Given the description of an element on the screen output the (x, y) to click on. 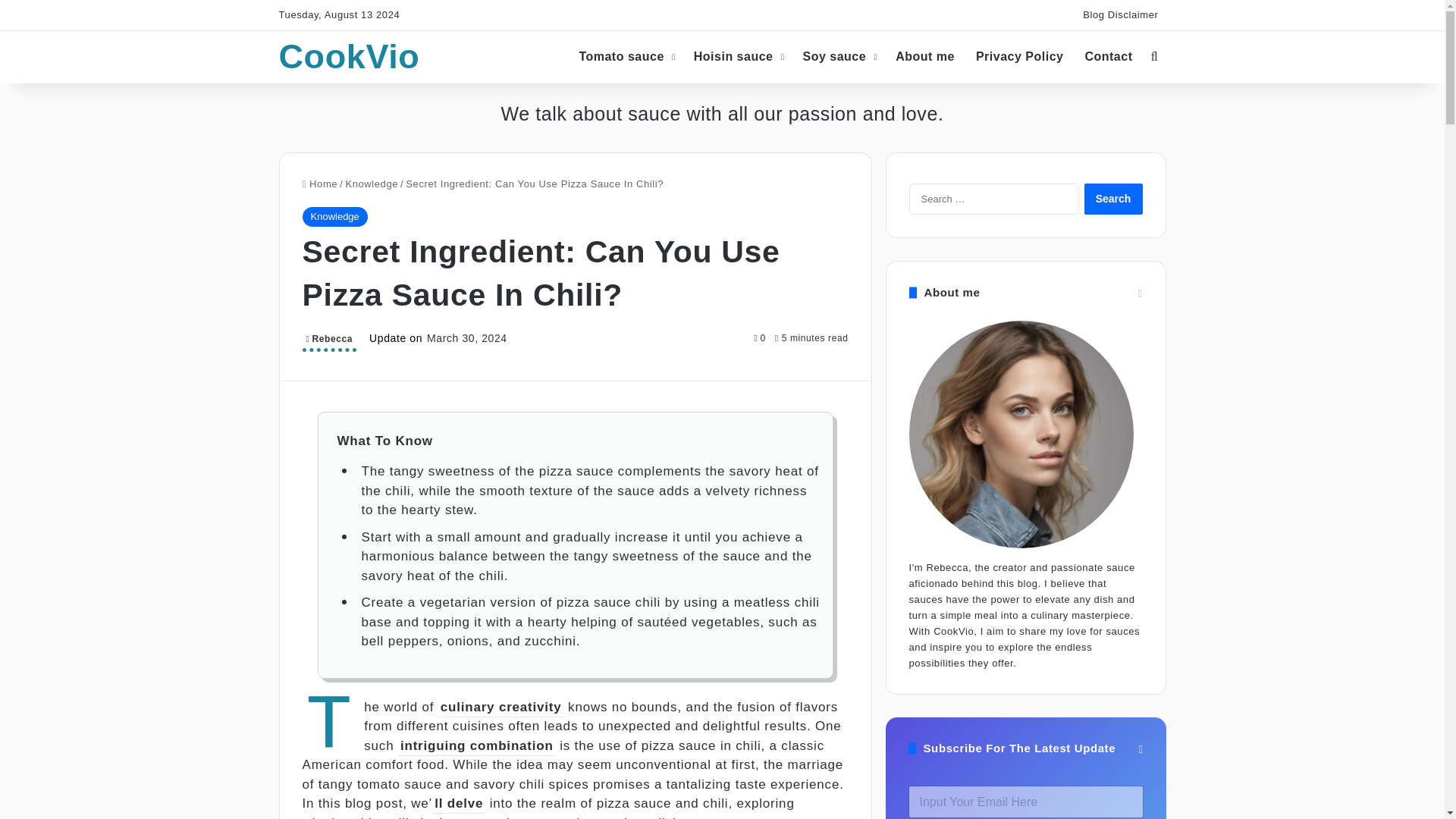
Search (1113, 198)
Rebecca (328, 341)
Privacy Policy (1019, 56)
Contact (1108, 56)
Home (319, 183)
Blog Disclaimer (1120, 15)
CookVio (349, 56)
Search (1113, 198)
CookVio (349, 56)
About me (925, 56)
